Given the description of an element on the screen output the (x, y) to click on. 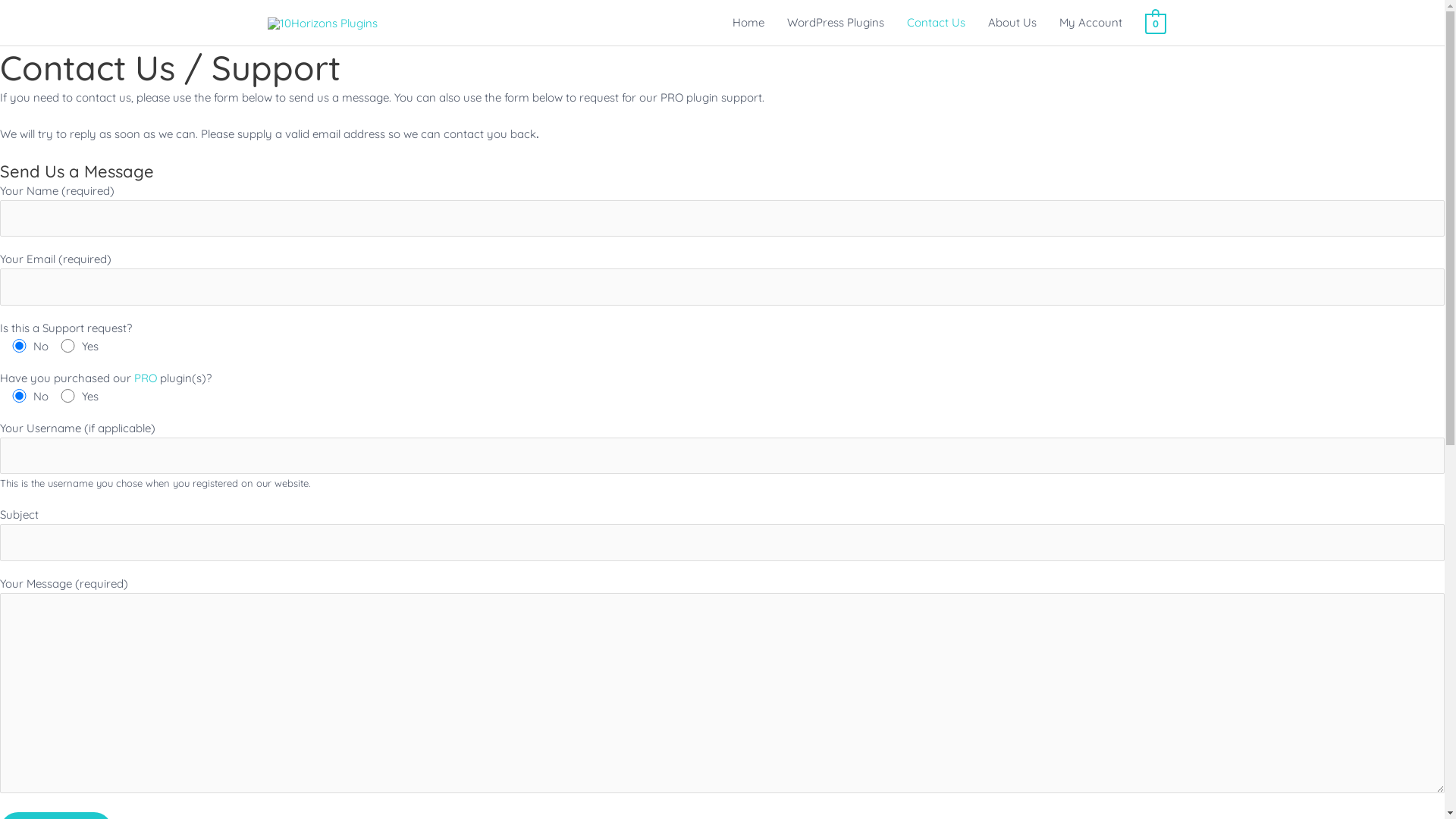
WordPress Plugins Element type: text (835, 22)
Home Element type: text (748, 22)
My Account Element type: text (1090, 22)
About Us Element type: text (1012, 22)
PRO Element type: text (145, 377)
Contact Us Element type: text (935, 22)
0 Element type: text (1155, 22)
